Given the description of an element on the screen output the (x, y) to click on. 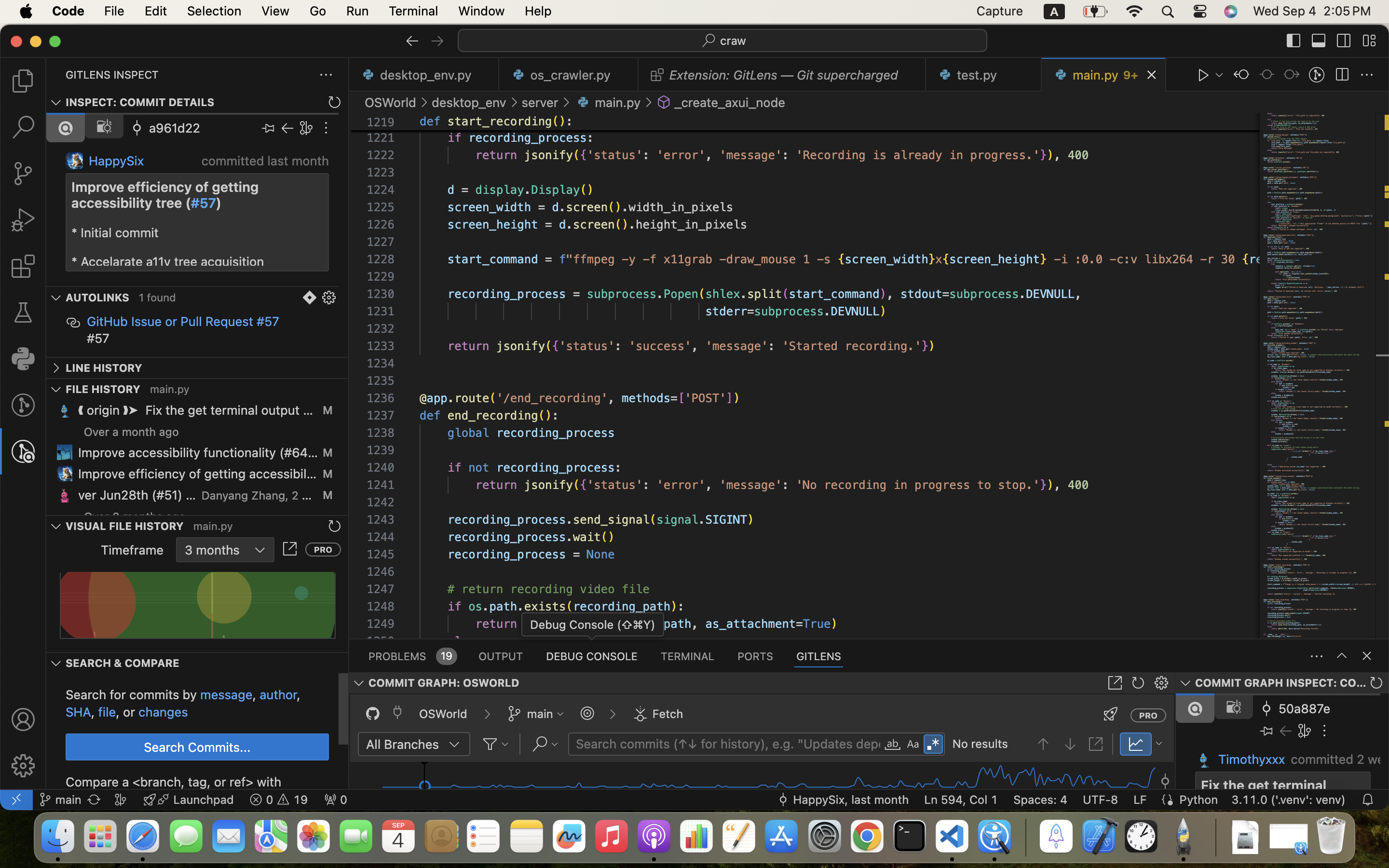
 Element type: AXStaticText (612, 713)
1 main.py   9+ Element type: AXRadioButton (1103, 74)
 Element type: AXButton (1341, 74)
Improve efficiency of getting accessibility tree (#57) … Element type: AXStaticText (197, 473)
 Element type: AXStaticText (325, 127)
